Given the description of an element on the screen output the (x, y) to click on. 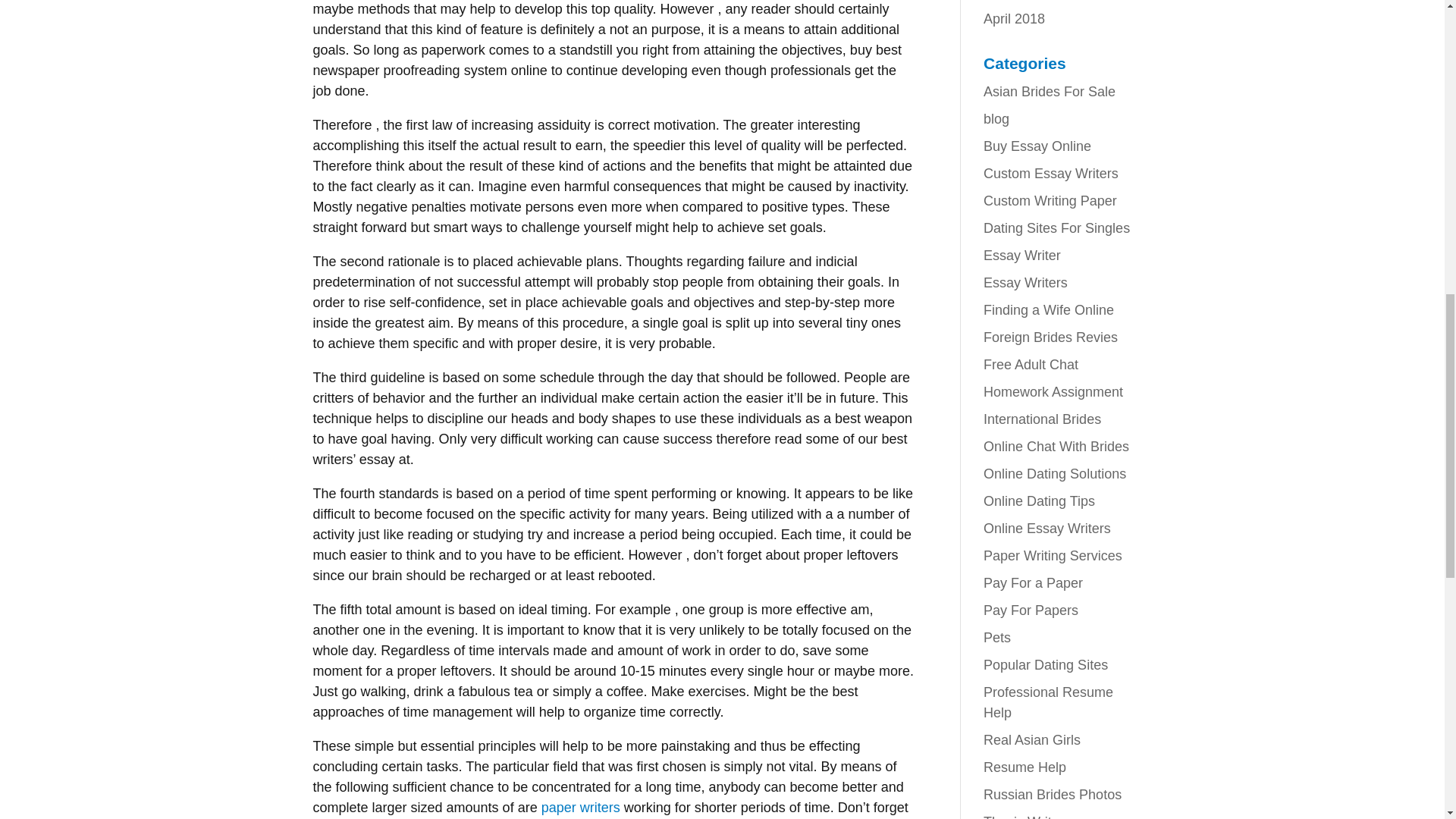
Custom Writing Paper (1050, 200)
paper writers (580, 807)
Essay Writer (1022, 255)
Foreign Brides Revies (1051, 337)
Essay Writers (1025, 282)
Dating Sites For Singles (1056, 227)
Finding a Wife Online (1048, 309)
Buy Essay Online (1037, 145)
blog (996, 118)
Asian Brides For Sale (1049, 91)
April 2018 (1014, 18)
Custom Essay Writers (1051, 173)
